Given the description of an element on the screen output the (x, y) to click on. 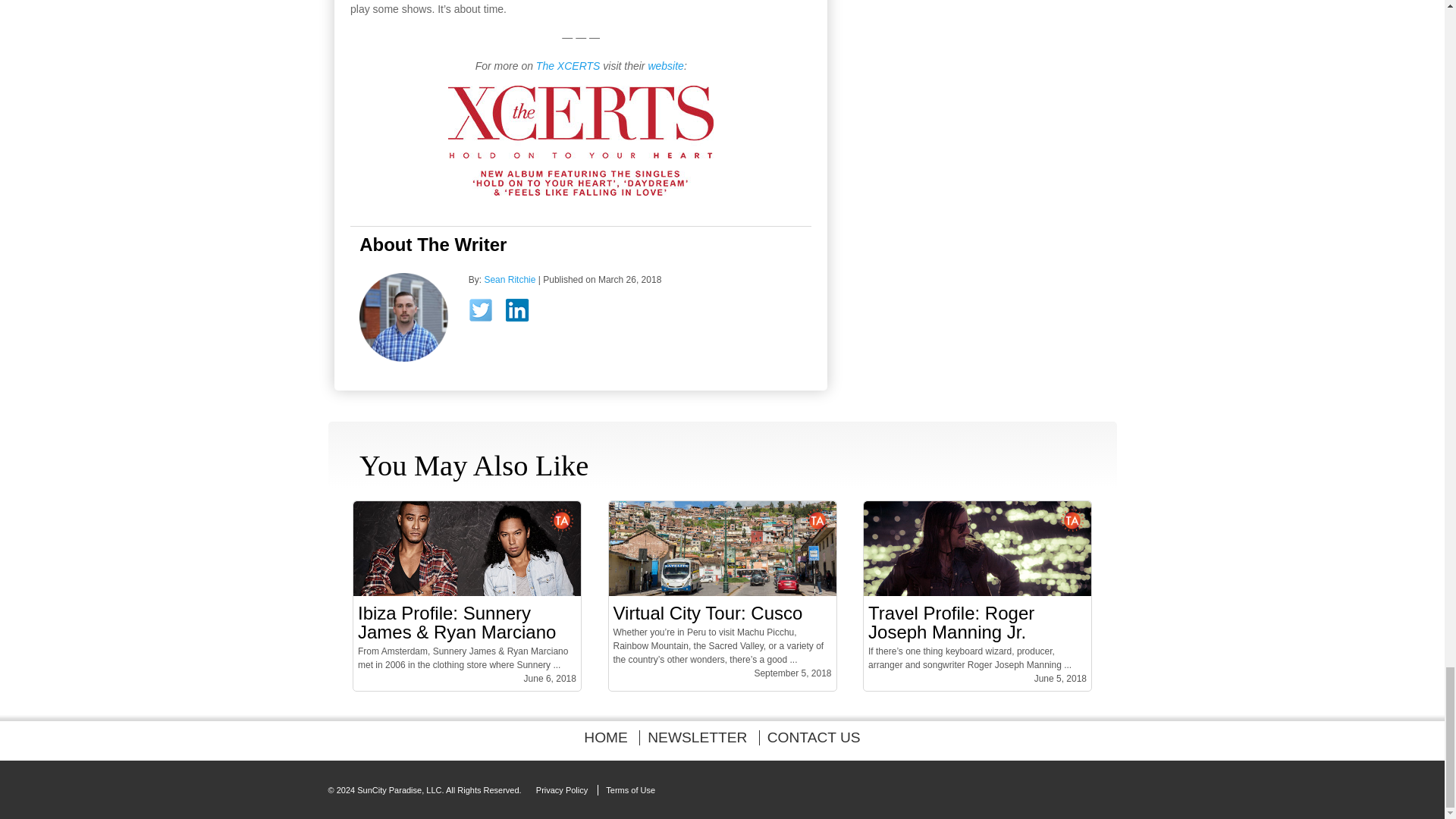
Sean Ritchie (509, 279)
Sean Ritchie (403, 357)
Twitter: Sean Ritchie (485, 314)
LinkedIn: Sean Ritchie (521, 313)
